Given the description of an element on the screen output the (x, y) to click on. 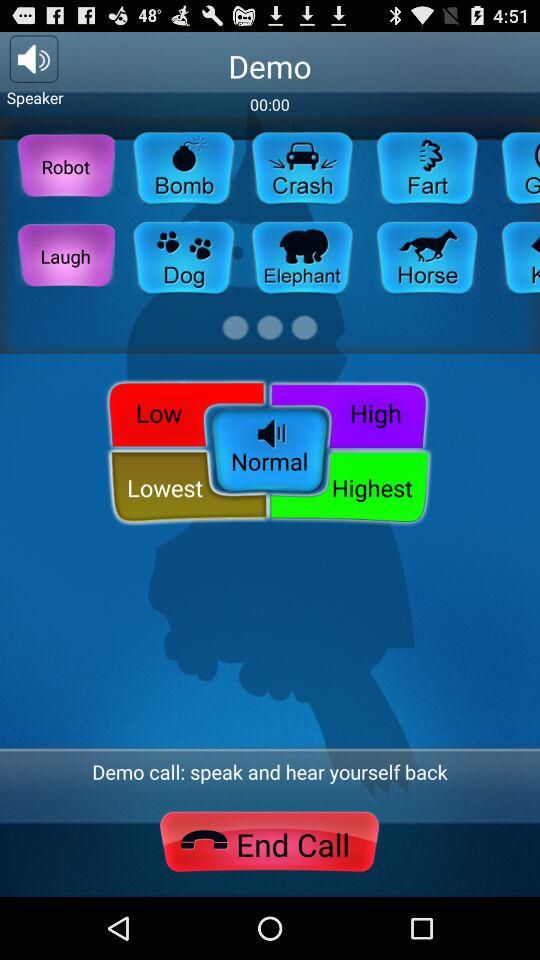
press item below speaker icon (65, 166)
